Given the description of an element on the screen output the (x, y) to click on. 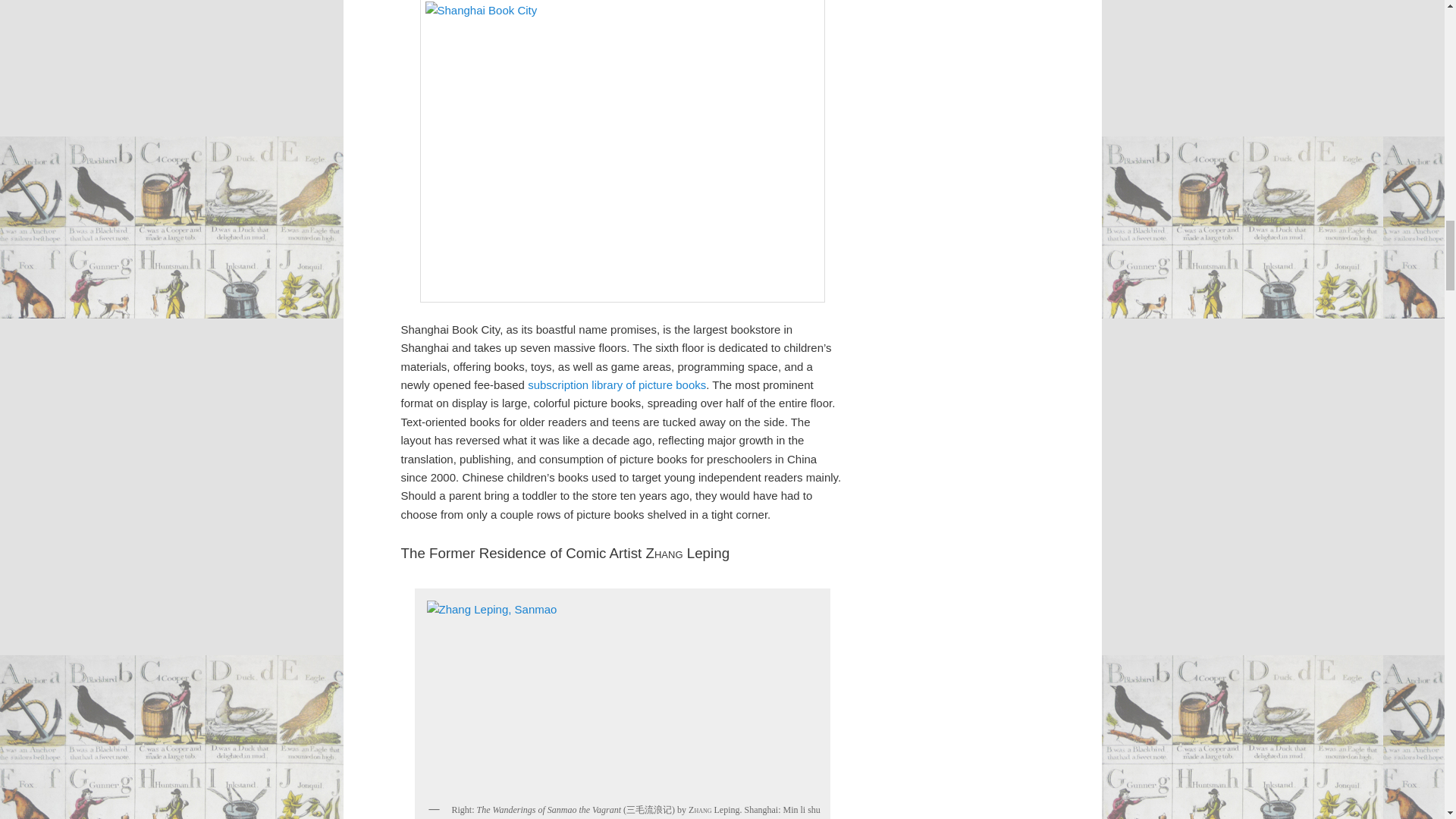
subscription library of picture books (616, 384)
